Given the description of an element on the screen output the (x, y) to click on. 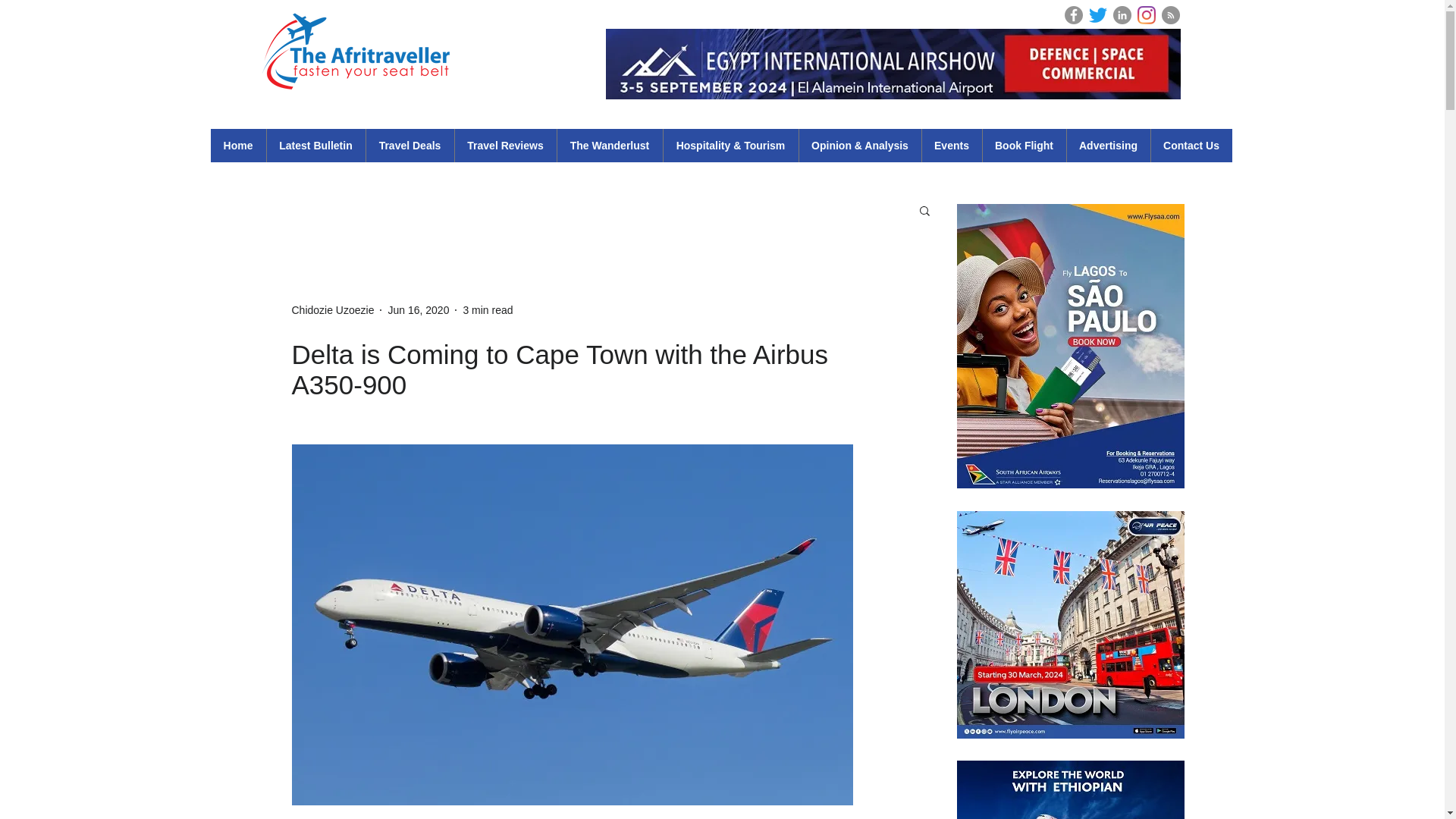
Events (950, 145)
Home (238, 145)
Chidozie Uzoezie (332, 309)
3 min read (487, 309)
Book Flight (1023, 145)
Latest Bulletin (314, 145)
Advertising (1107, 145)
Travel Deals (409, 145)
Travel Reviews (504, 145)
The Wanderlust (609, 145)
Login (1201, 13)
Contact Us (1190, 145)
Jun 16, 2020 (417, 309)
